Given the description of an element on the screen output the (x, y) to click on. 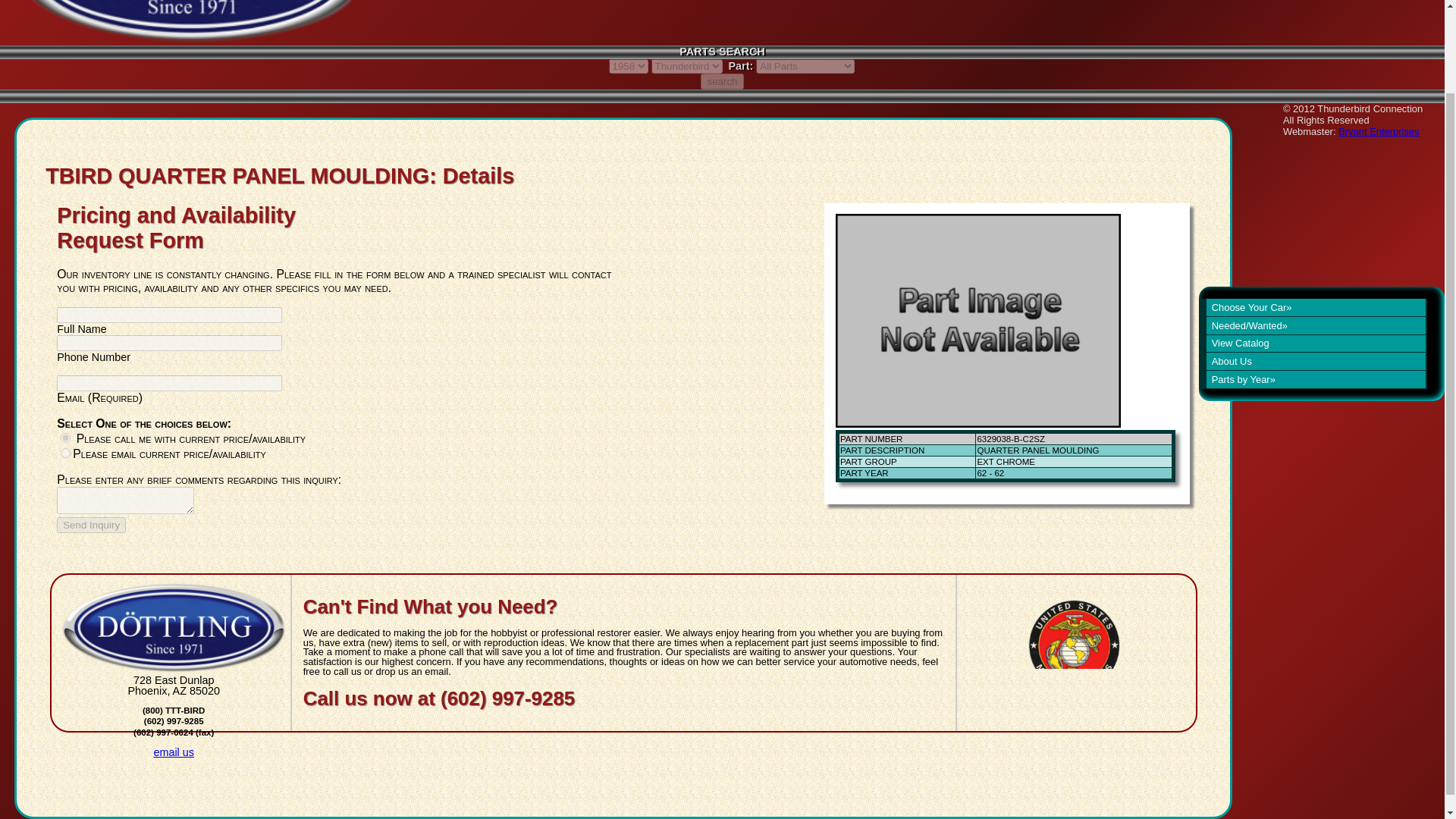
Thunderbird Connection Home (182, 21)
email (65, 452)
Parts by Year (1312, 282)
Bryant Enterprises (1378, 131)
search (721, 81)
View Catalog (1312, 247)
email us (172, 752)
Choose Your Car (1312, 211)
Send Inquiry (90, 524)
About Us (1312, 264)
